Given the description of an element on the screen output the (x, y) to click on. 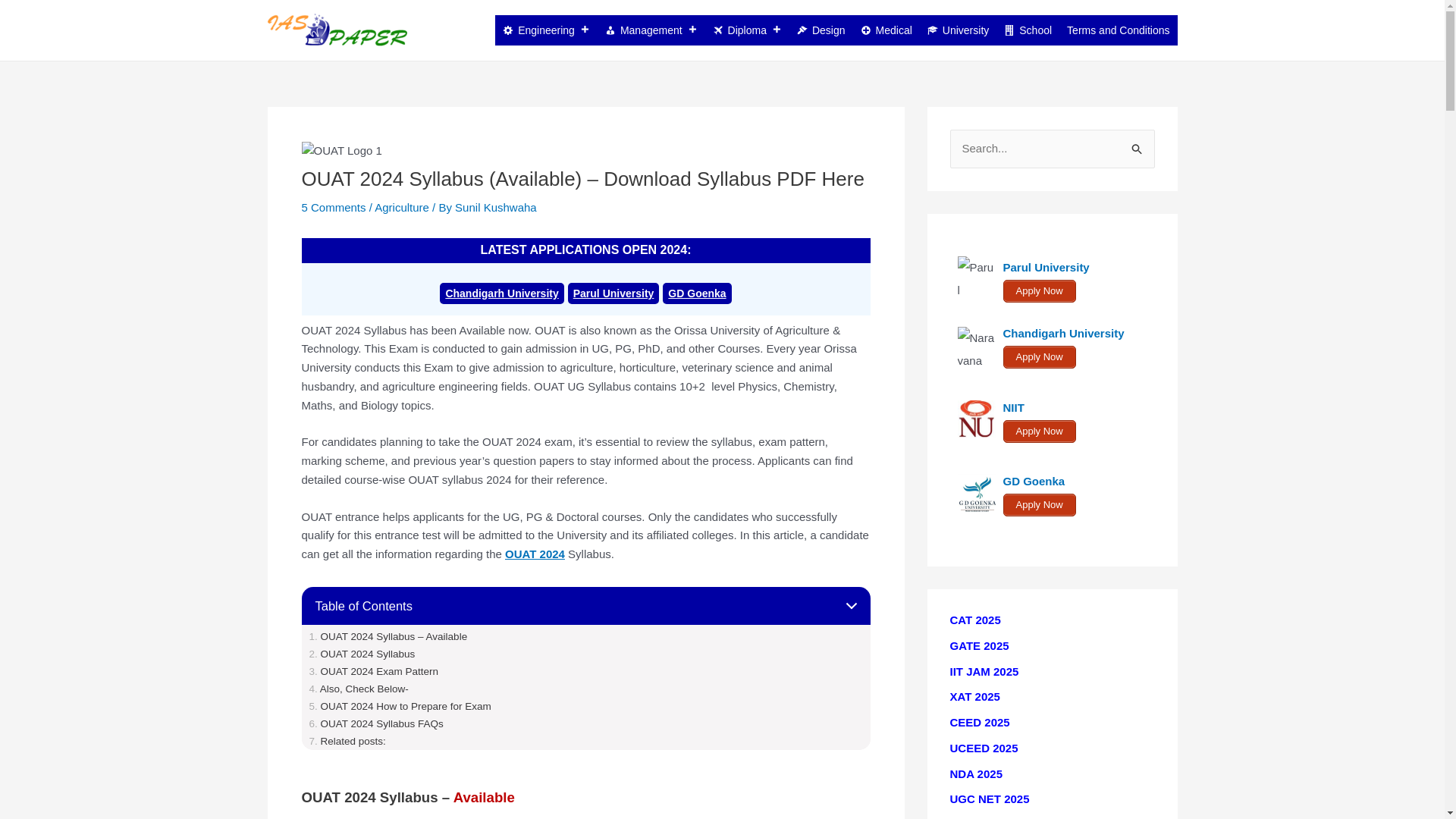
Also, Check Below- (358, 688)
OUAT 2024 How to Prepare for Exam (400, 706)
Related posts: (346, 740)
Search (1137, 144)
OUAT 2024 Exam Pattern (373, 671)
View all posts by Sunil Kushwaha (495, 206)
Engineering (545, 30)
OUAT 2024 Syllabus FAQs (376, 723)
Search (1137, 144)
OUAT 2024 Syllabus (361, 654)
